Given the description of an element on the screen output the (x, y) to click on. 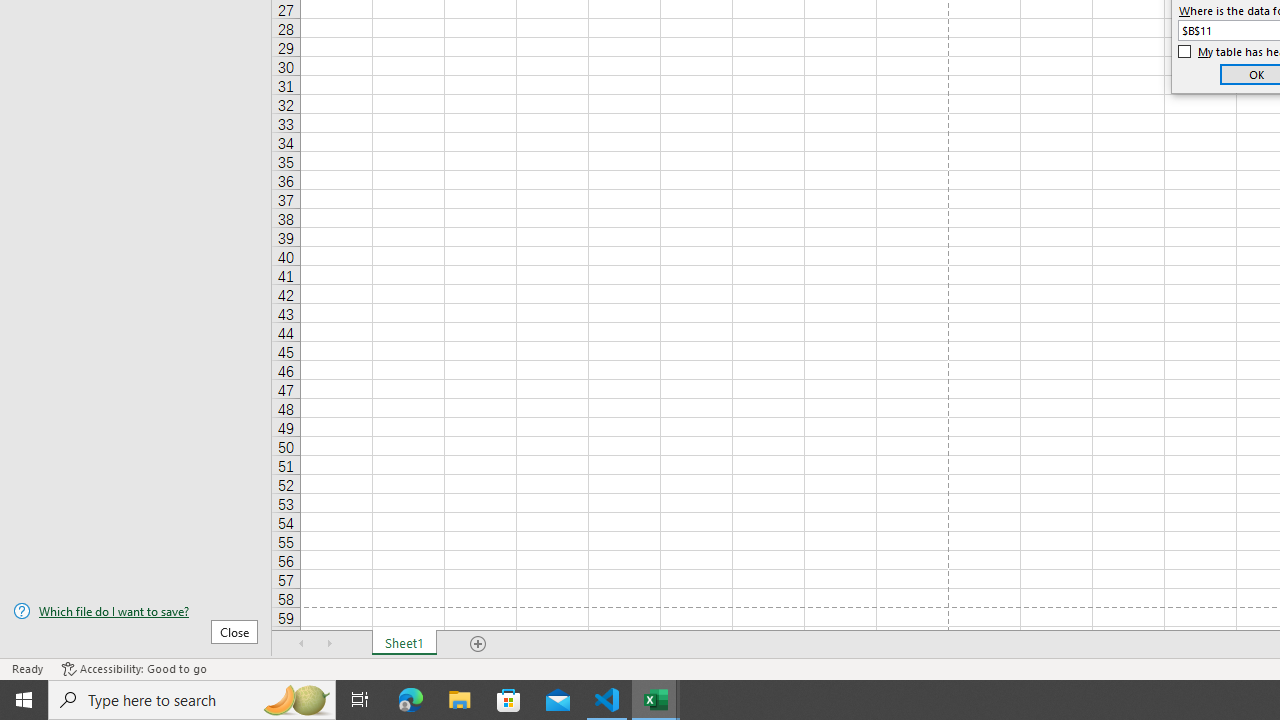
Accessibility Checker Accessibility: Good to go (134, 668)
Sheet1 (404, 644)
Which file do I want to save? (136, 611)
Scroll Right (330, 644)
Add Sheet (478, 644)
Scroll Left (302, 644)
Close (234, 631)
